Given the description of an element on the screen output the (x, y) to click on. 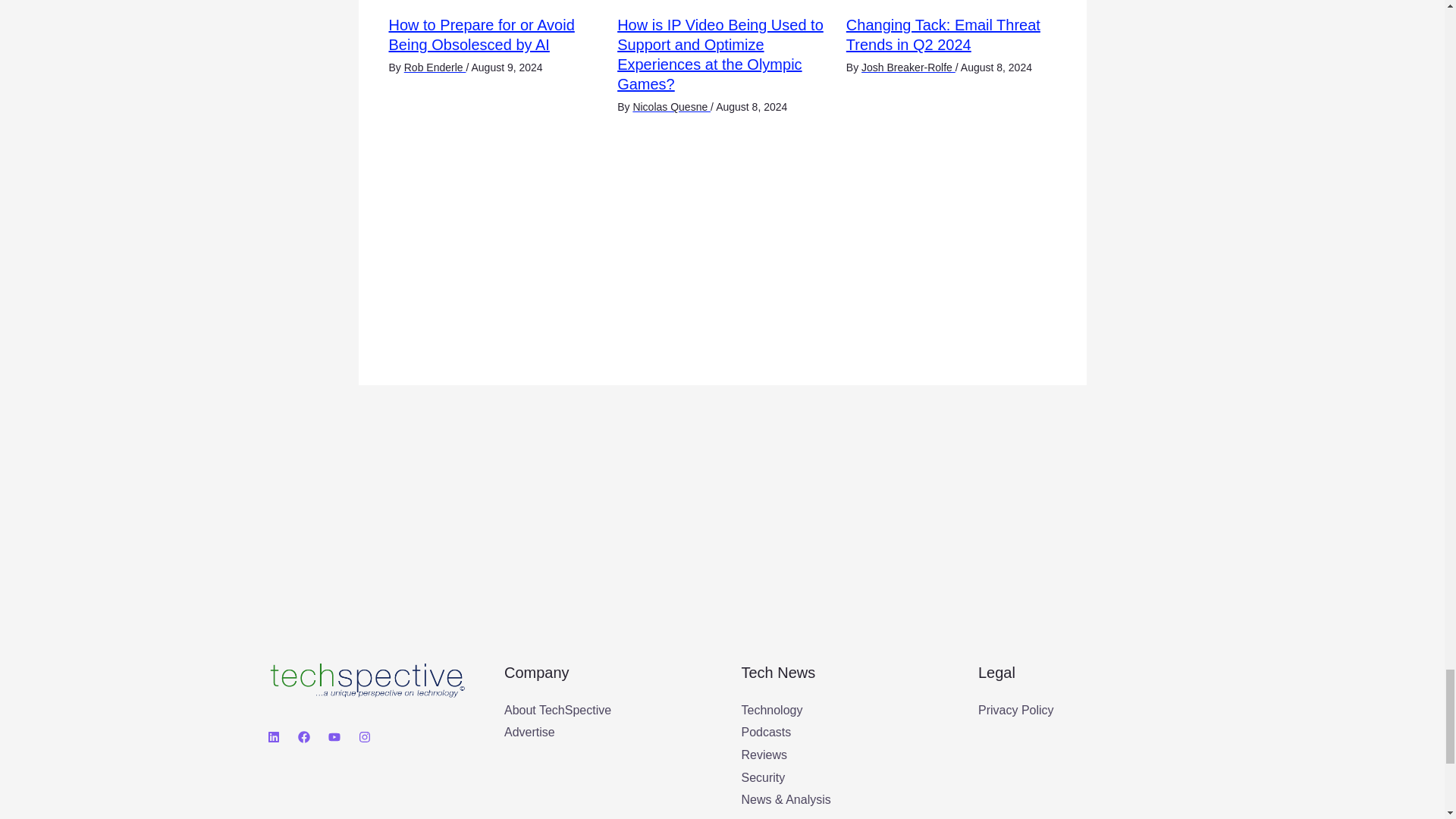
View all posts by Nicolas Quesne (670, 106)
View all posts by Rob Enderle (434, 67)
View all posts by Josh Breaker-Rolfe (908, 67)
